Given the description of an element on the screen output the (x, y) to click on. 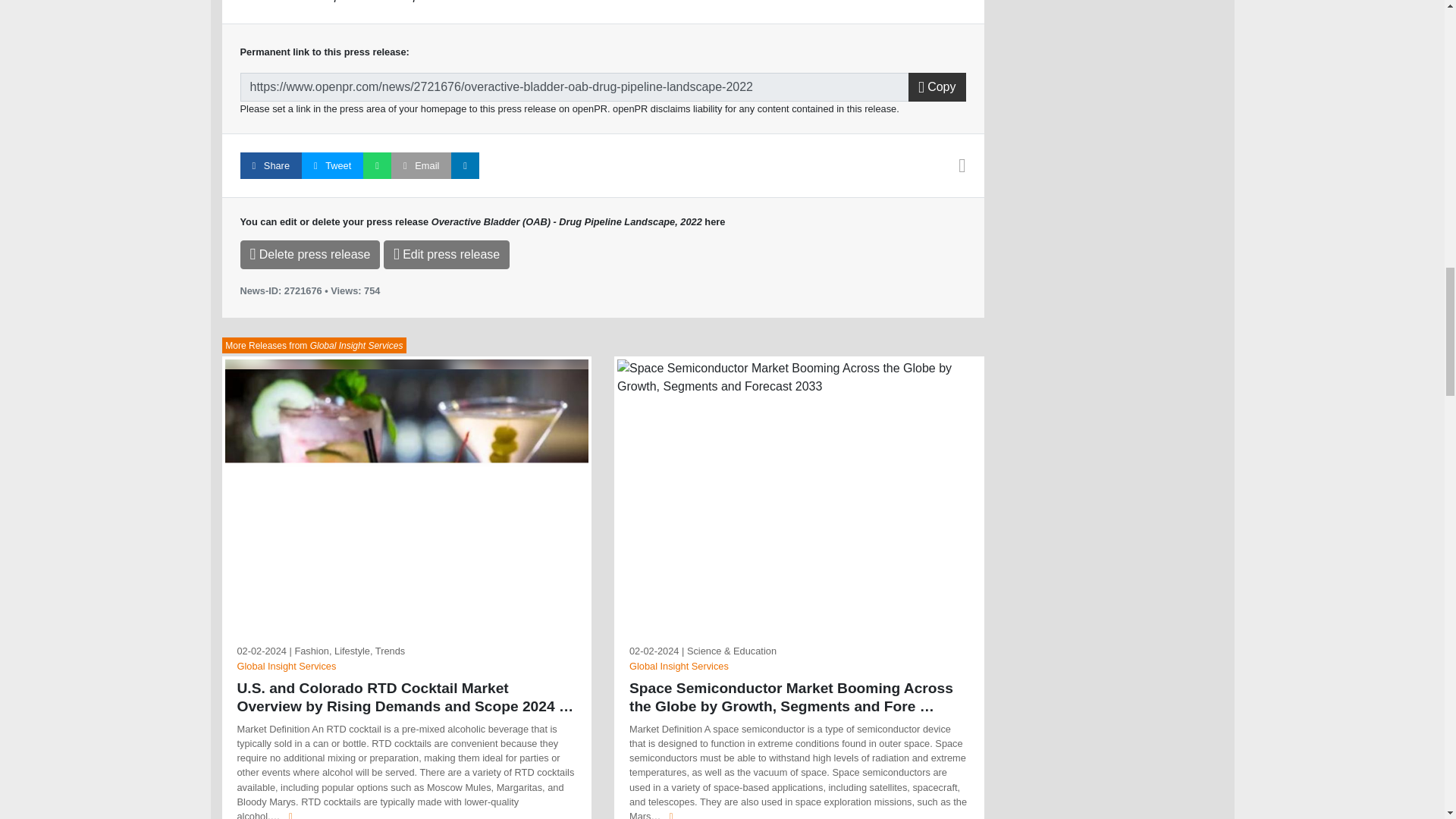
WhatsApp (376, 165)
Fashion, Lifestyle, Trends (349, 650)
Facebook (270, 165)
Email (421, 165)
LinkedIn (465, 165)
Permalink (574, 86)
